Given the description of an element on the screen output the (x, y) to click on. 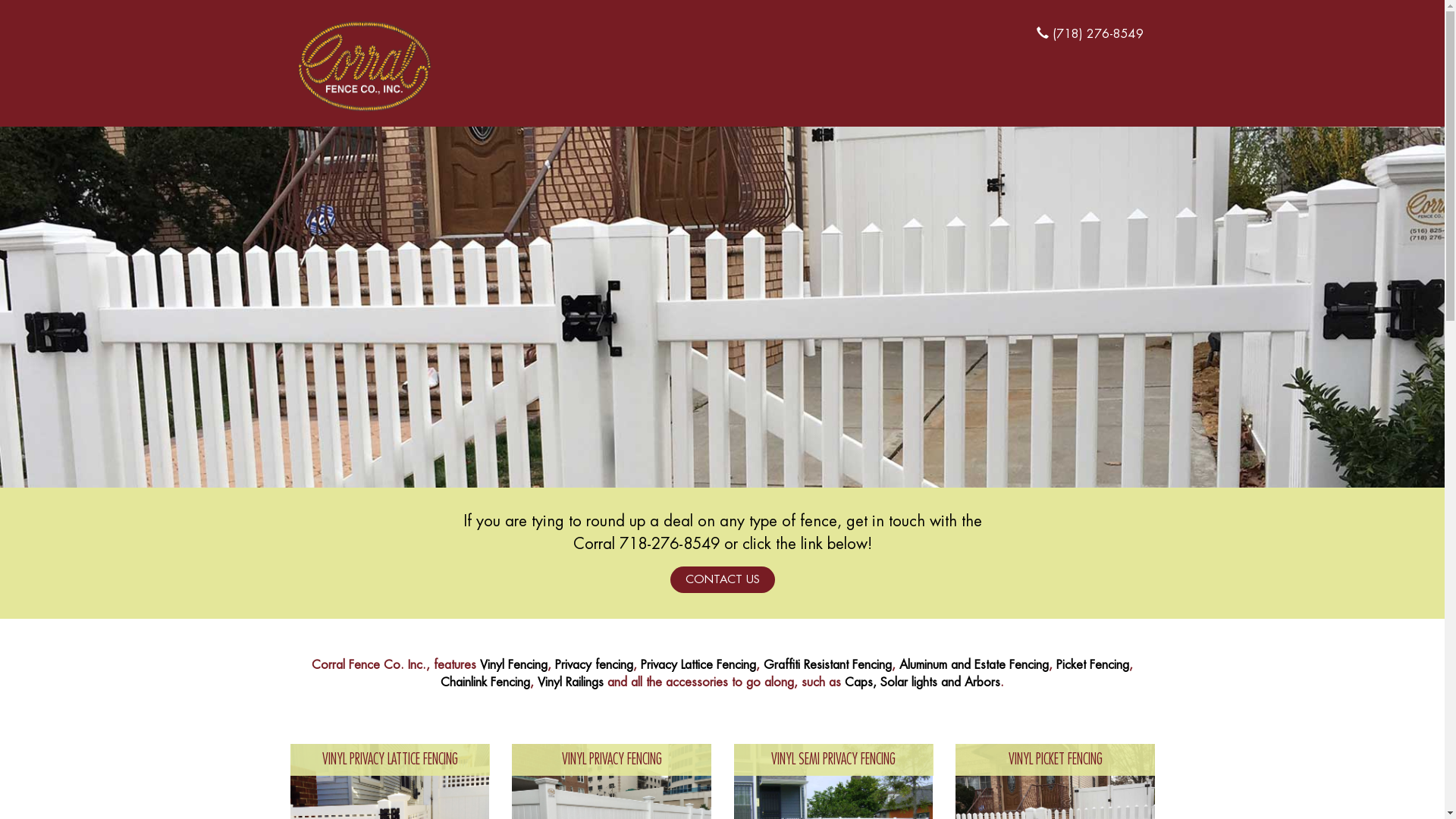
CONTACT US Element type: text (722, 579)
Chainlink Fencing Element type: text (485, 682)
(718) 276-8549 Element type: text (1095, 34)
Picket Fencing Element type: text (1092, 664)
Privacy fencing Element type: text (594, 664)
Vinyl Railings Element type: text (570, 682)
Graffiti Resistant Fencing Element type: text (827, 664)
Aluminum and Estate Fencing Element type: text (973, 664)
Privacy Lattice Fencing Element type: text (698, 664)
Vinyl Fencing Element type: text (513, 664)
Caps, Solar lights and Arbors Element type: text (920, 682)
